Given the description of an element on the screen output the (x, y) to click on. 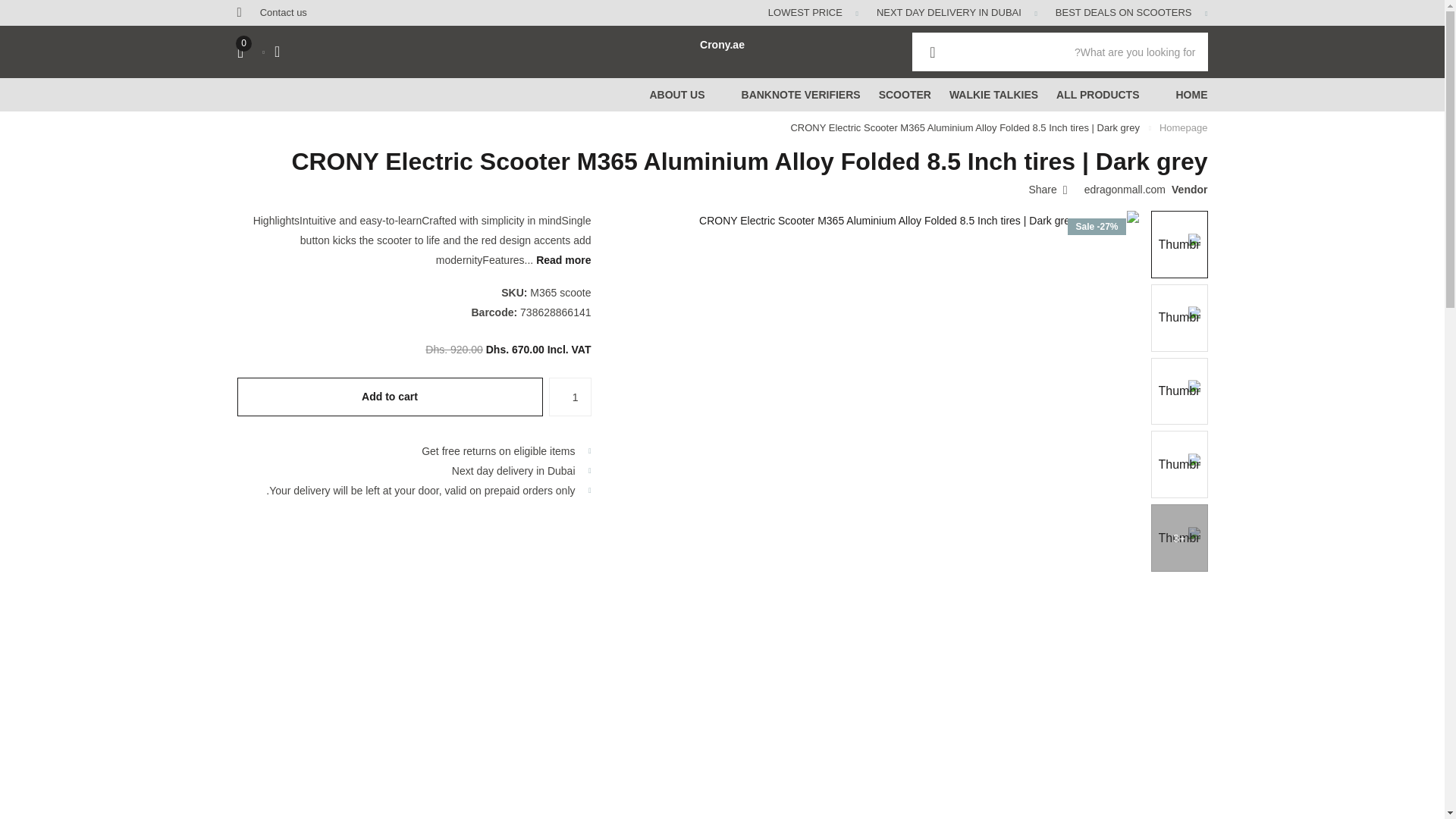
HOME (1190, 94)
Zoeken (932, 51)
Home (1183, 127)
Contact us (283, 12)
1 (569, 396)
ALL PRODUCTS (1097, 94)
